Given the description of an element on the screen output the (x, y) to click on. 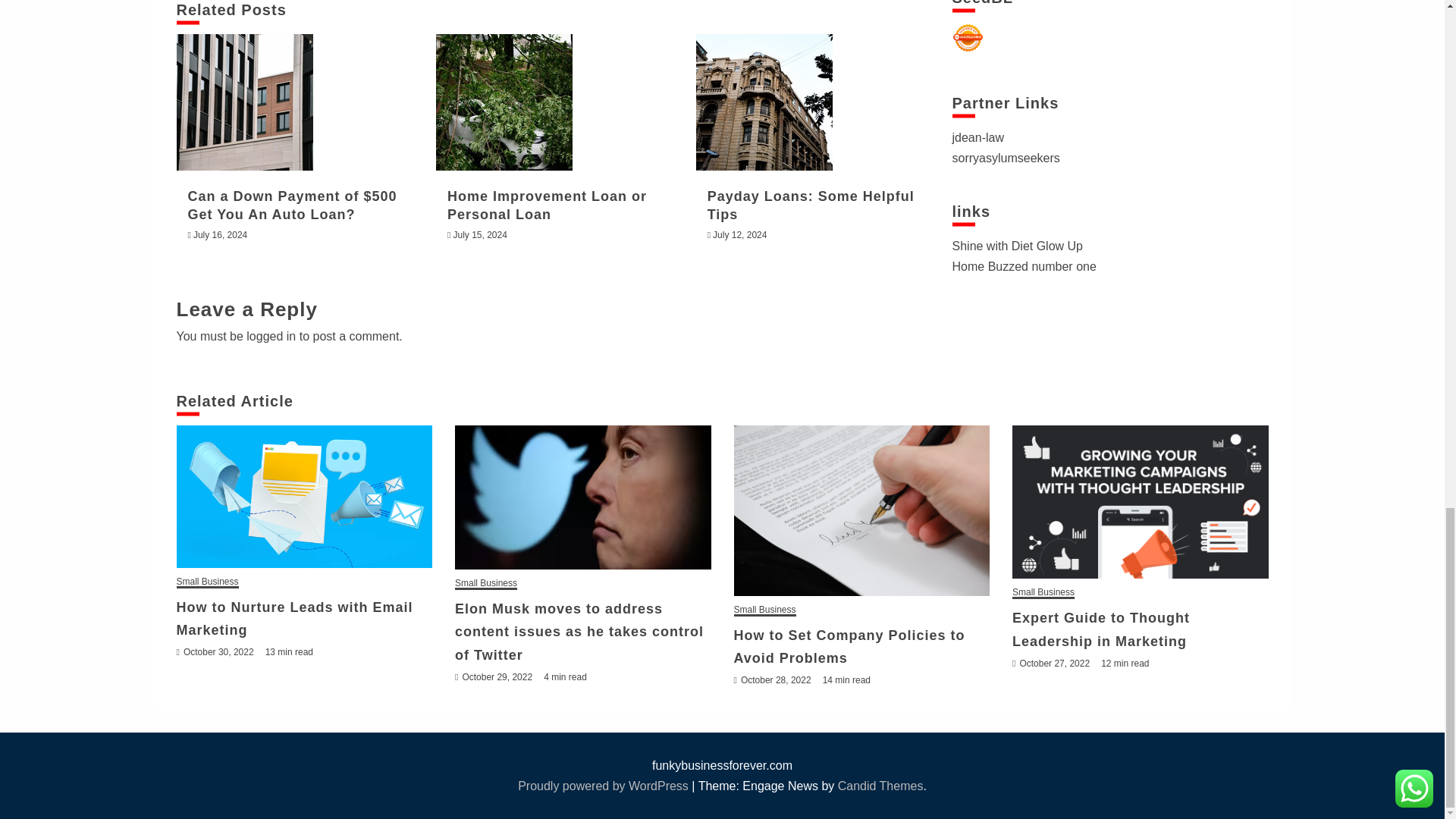
How to Nurture Leads with Email Marketing (304, 496)
July 12, 2024 (740, 235)
Payday Loans: Some Helpful Tips (763, 102)
Payday Loans: Some Helpful Tips (810, 205)
Home Improvement Loan or Personal Loan (503, 102)
July 15, 2024 (479, 235)
Home Improvement Loan or Personal Loan (546, 205)
How to Set Company Policies to Avoid Problems (861, 510)
July 16, 2024 (220, 235)
Seedbacklink (968, 38)
Can a Down Payment of 0 Get You An Auto Loan? (244, 102)
